Given the description of an element on the screen output the (x, y) to click on. 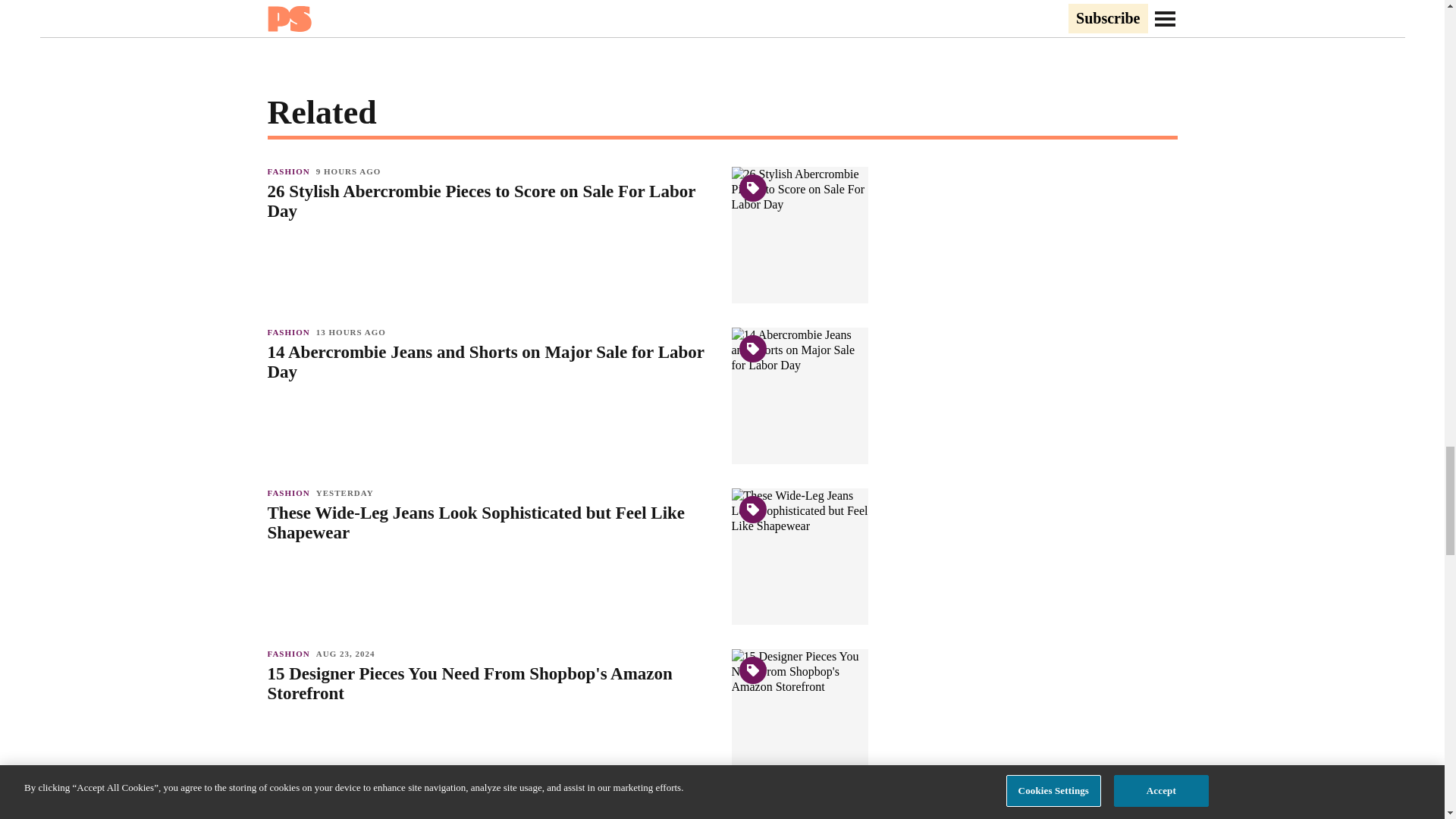
FASHION (290, 492)
FASHION (290, 171)
14 Abercrombie Jeans and Shorts on Major Sale for Labor Day (491, 362)
FASHION (290, 814)
26 Stylish Abercrombie Pieces to Score on Sale For Labor Day (491, 201)
15 Designer Pieces You Need From Shopbop's Amazon Storefront (491, 683)
FASHION (290, 653)
FASHION (290, 331)
